Given the description of an element on the screen output the (x, y) to click on. 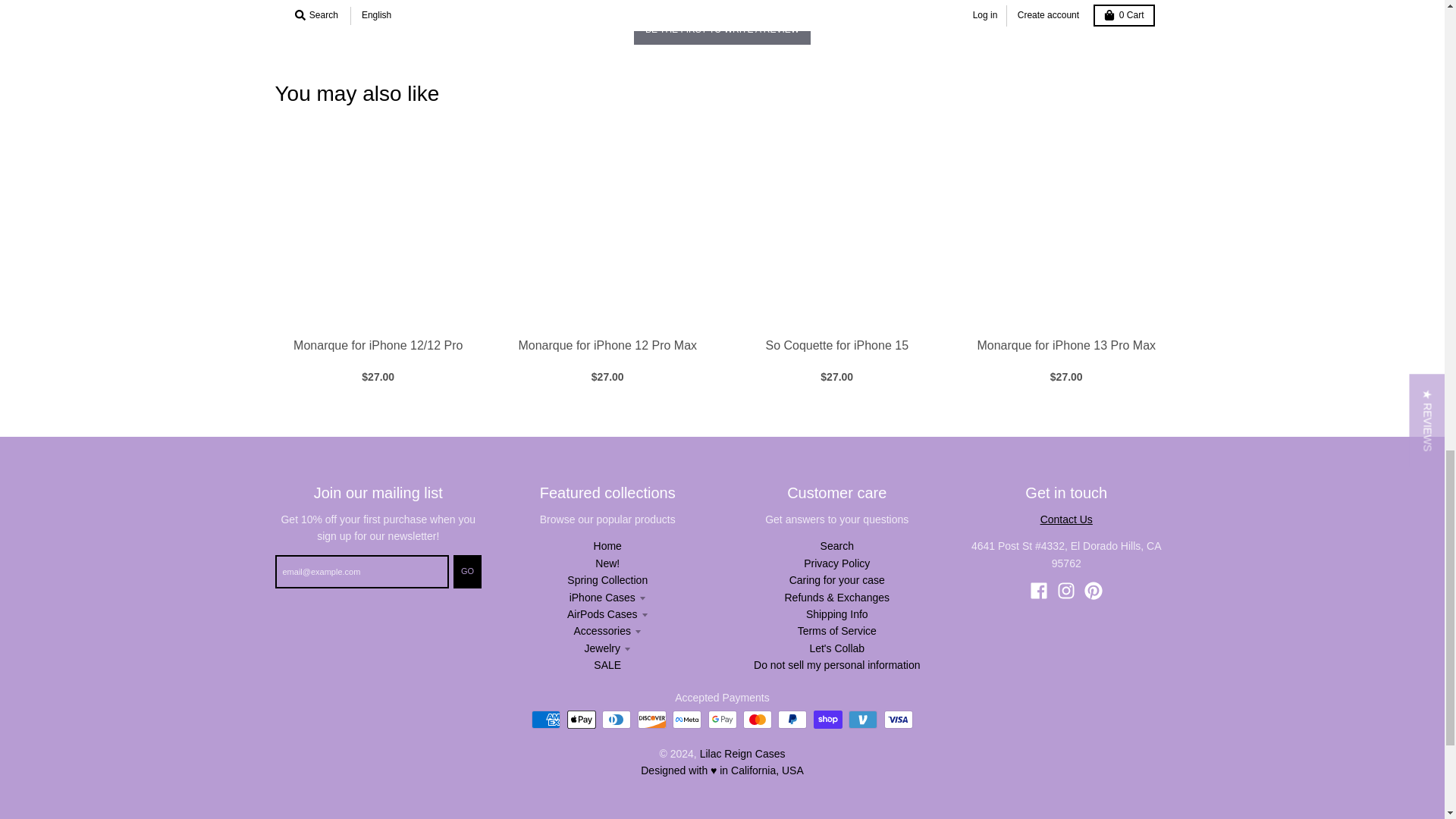
Pinterest - Lilac Reign Cases (1093, 590)
Instagram - Lilac Reign Cases (1066, 590)
Facebook - Lilac Reign Cases (1038, 590)
